Given the description of an element on the screen output the (x, y) to click on. 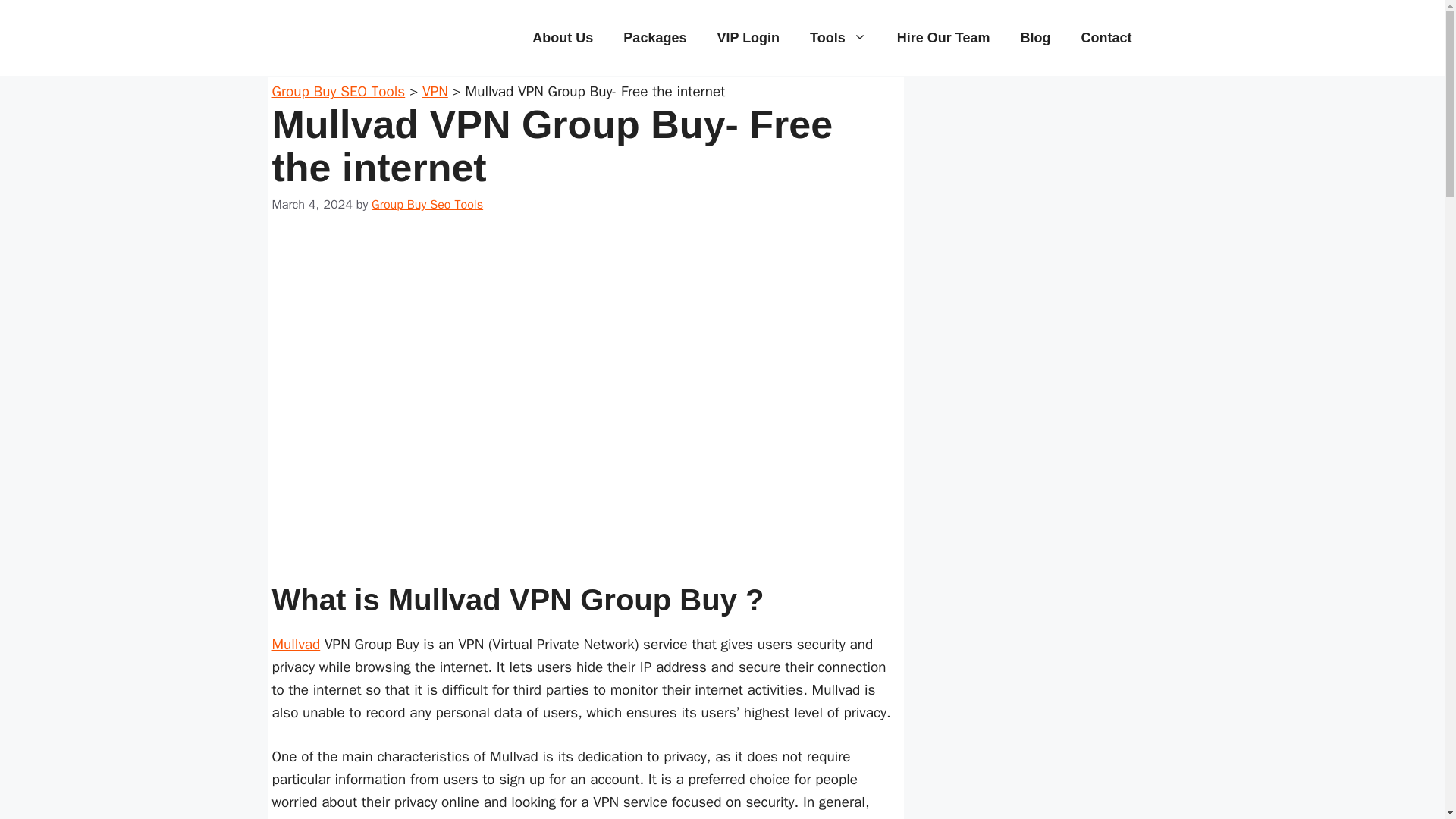
Mullvad (295, 644)
Blog (1035, 37)
Hire Our Team (944, 37)
Group Buy Seo Tools (427, 204)
Packages (654, 37)
About Us (562, 37)
VIP Login (747, 37)
View all posts by Group Buy Seo Tools (427, 204)
Go to Group Buy SEO Tools. (337, 91)
Go to the VPN Category archives. (435, 91)
